Given the description of an element on the screen output the (x, y) to click on. 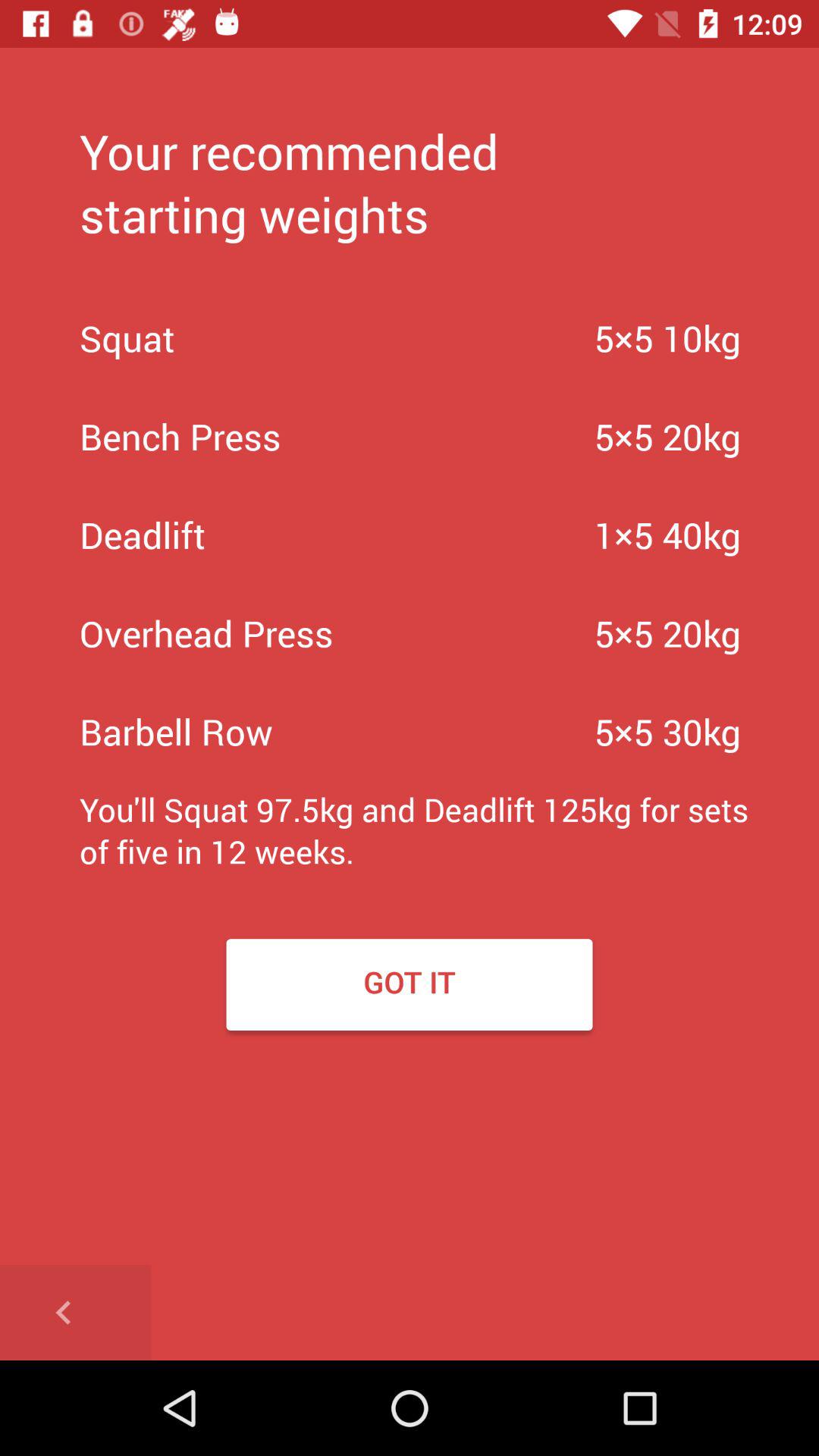
choose icon below the you ll squat (75, 1312)
